Given the description of an element on the screen output the (x, y) to click on. 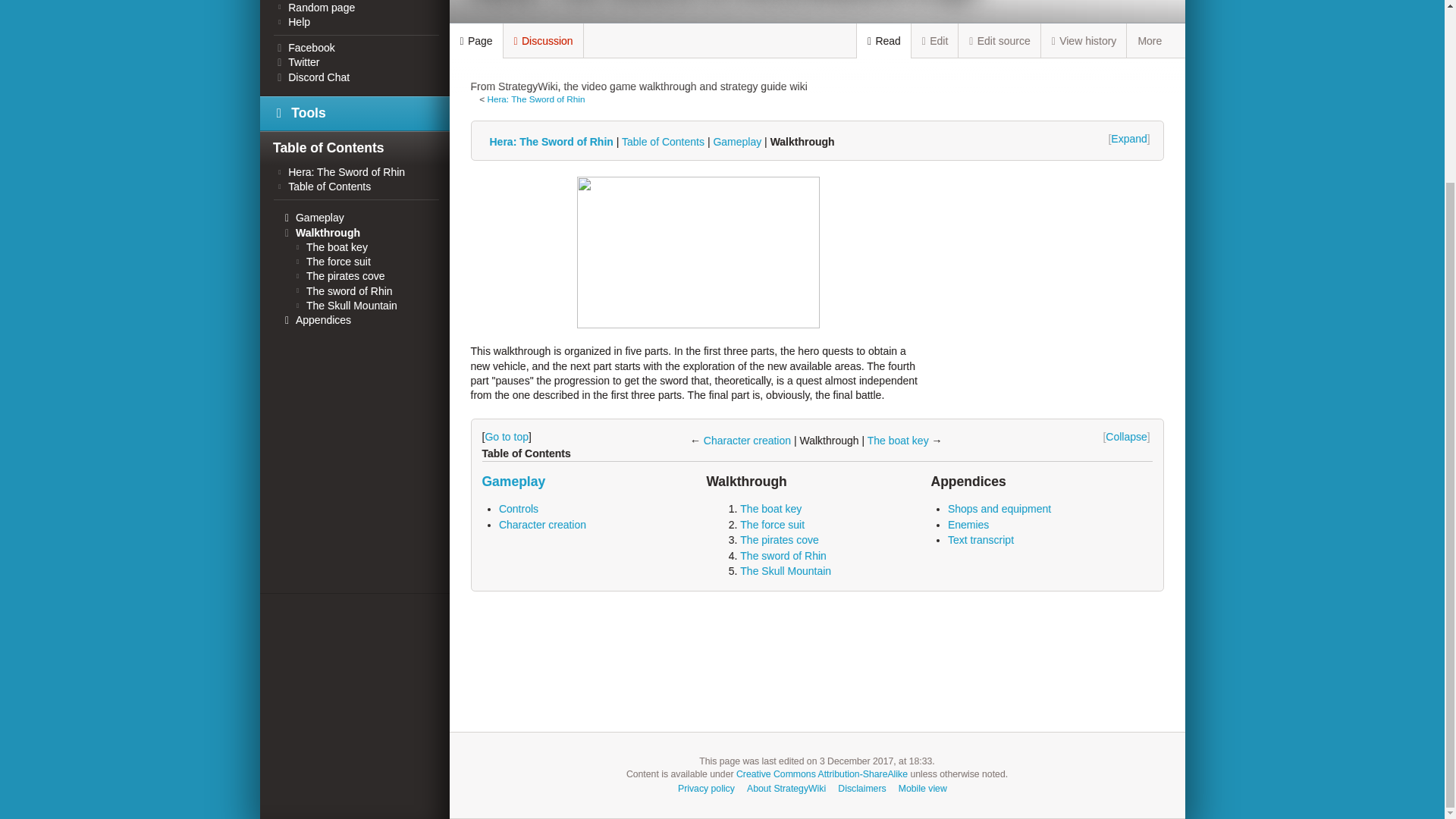
Collapse (1126, 436)
The boat key (897, 440)
Controls (518, 508)
E-mail this page (1131, 88)
Gameplay (513, 481)
Walkthrough (802, 141)
Gameplay (737, 141)
Read (884, 40)
Hera: The Sword of Rhin (549, 141)
Discussion (543, 40)
